Given the description of an element on the screen output the (x, y) to click on. 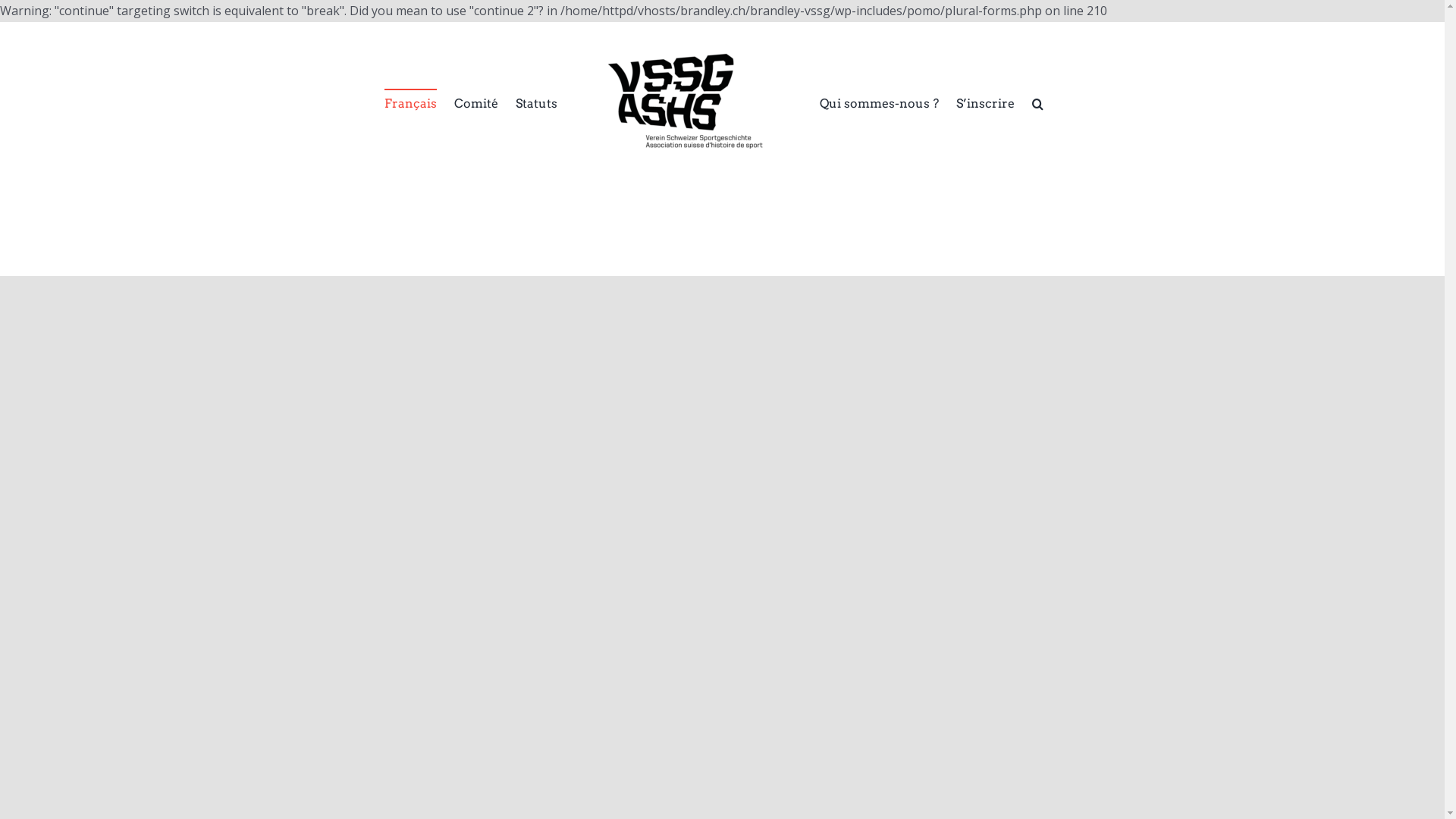
Qui sommes-nous ? Element type: text (878, 102)
Statuts Element type: text (536, 102)
Search Element type: hover (1036, 102)
